Given the description of an element on the screen output the (x, y) to click on. 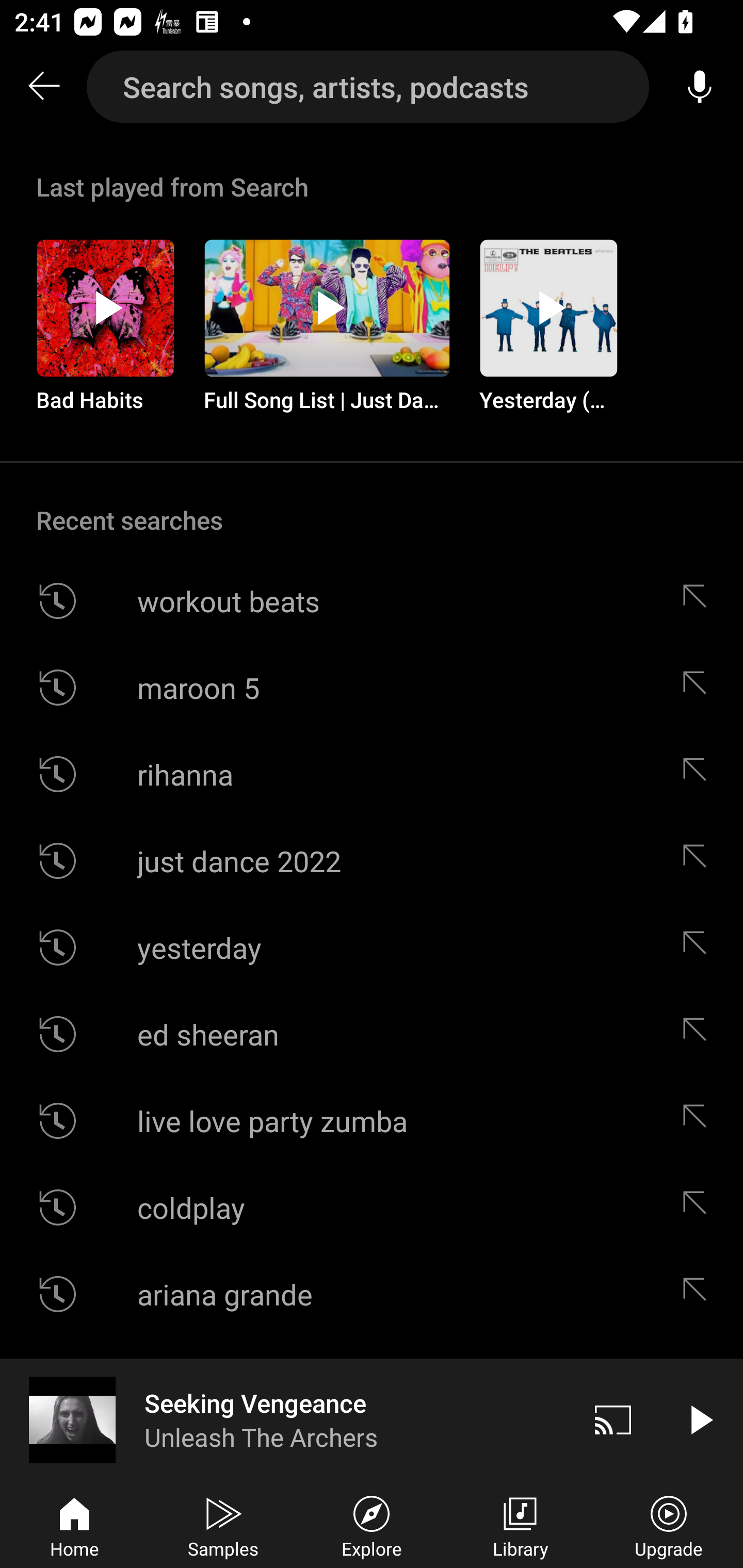
Search back (43, 86)
Search songs, artists, podcasts (367, 86)
Voice search (699, 86)
workout beats Edit suggestion workout beats (371, 601)
Edit suggestion workout beats (699, 601)
maroon 5 Edit suggestion maroon 5 (371, 687)
Edit suggestion maroon 5 (699, 687)
rihanna Edit suggestion rihanna (371, 773)
Edit suggestion rihanna (699, 773)
just dance 2022 Edit suggestion just dance 2022 (371, 860)
Edit suggestion just dance 2022 (699, 860)
yesterday Edit suggestion yesterday (371, 947)
Edit suggestion yesterday (699, 947)
ed sheeran Edit suggestion ed sheeran (371, 1033)
Edit suggestion ed sheeran (699, 1033)
Edit suggestion live love party zumba (699, 1120)
coldplay Edit suggestion coldplay (371, 1207)
Edit suggestion coldplay (699, 1207)
ariana grande Edit suggestion ariana grande (371, 1294)
Edit suggestion ariana grande (699, 1294)
Seeking Vengeance Unleash The Archers (284, 1419)
Cast. Disconnected (612, 1419)
Play video (699, 1419)
Home (74, 1524)
Samples (222, 1524)
Explore (371, 1524)
Library (519, 1524)
Upgrade (668, 1524)
